Given the description of an element on the screen output the (x, y) to click on. 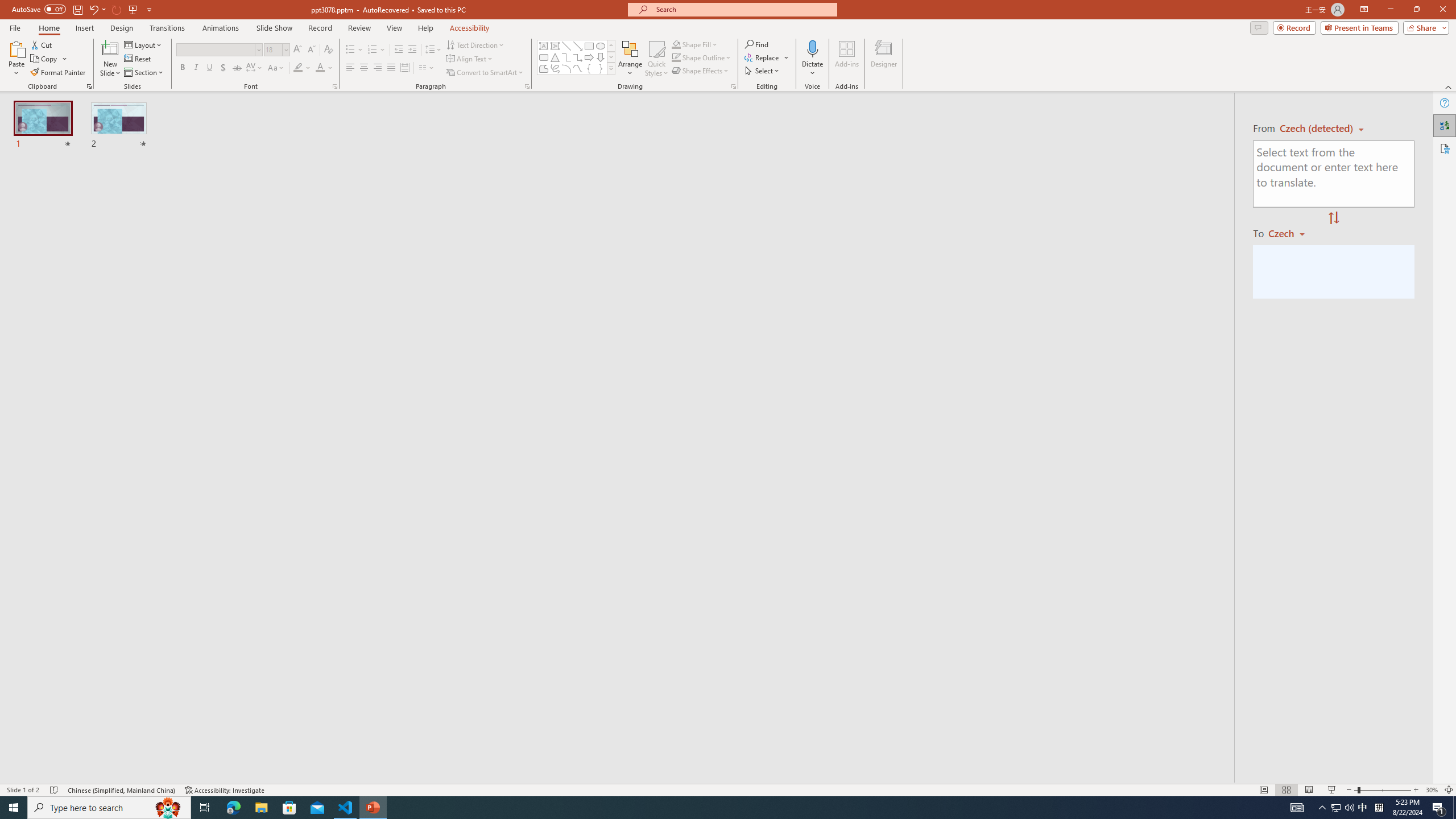
Go Back (Alt+LeftArrow) (344, 150)
Go Forward (Alt+RightArrow) (370, 150)
SJTUvpn (440, 78)
Copilot (Ctrl+Shift+.) (1434, 46)
Accounts - Sign in requested (76, 690)
Gmail (362, 78)
Problems (Ctrl+Shift+M) (323, 533)
Microsoft security help and learning (23, 348)
Terminal 3 bash (995, 599)
Source Control (Ctrl+Shift+G) (76, 309)
